Given the description of an element on the screen output the (x, y) to click on. 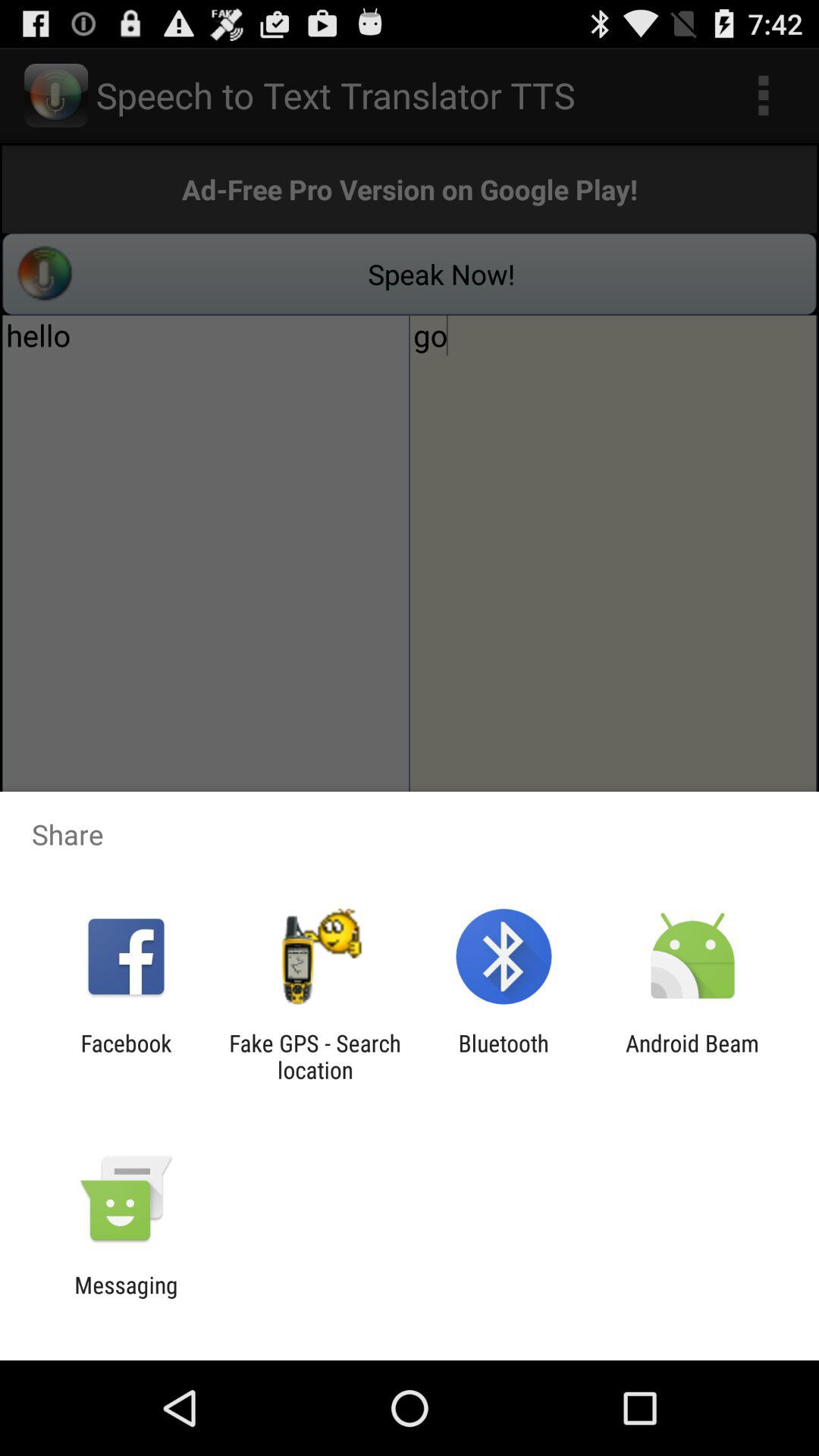
jump to bluetooth (503, 1056)
